Given the description of an element on the screen output the (x, y) to click on. 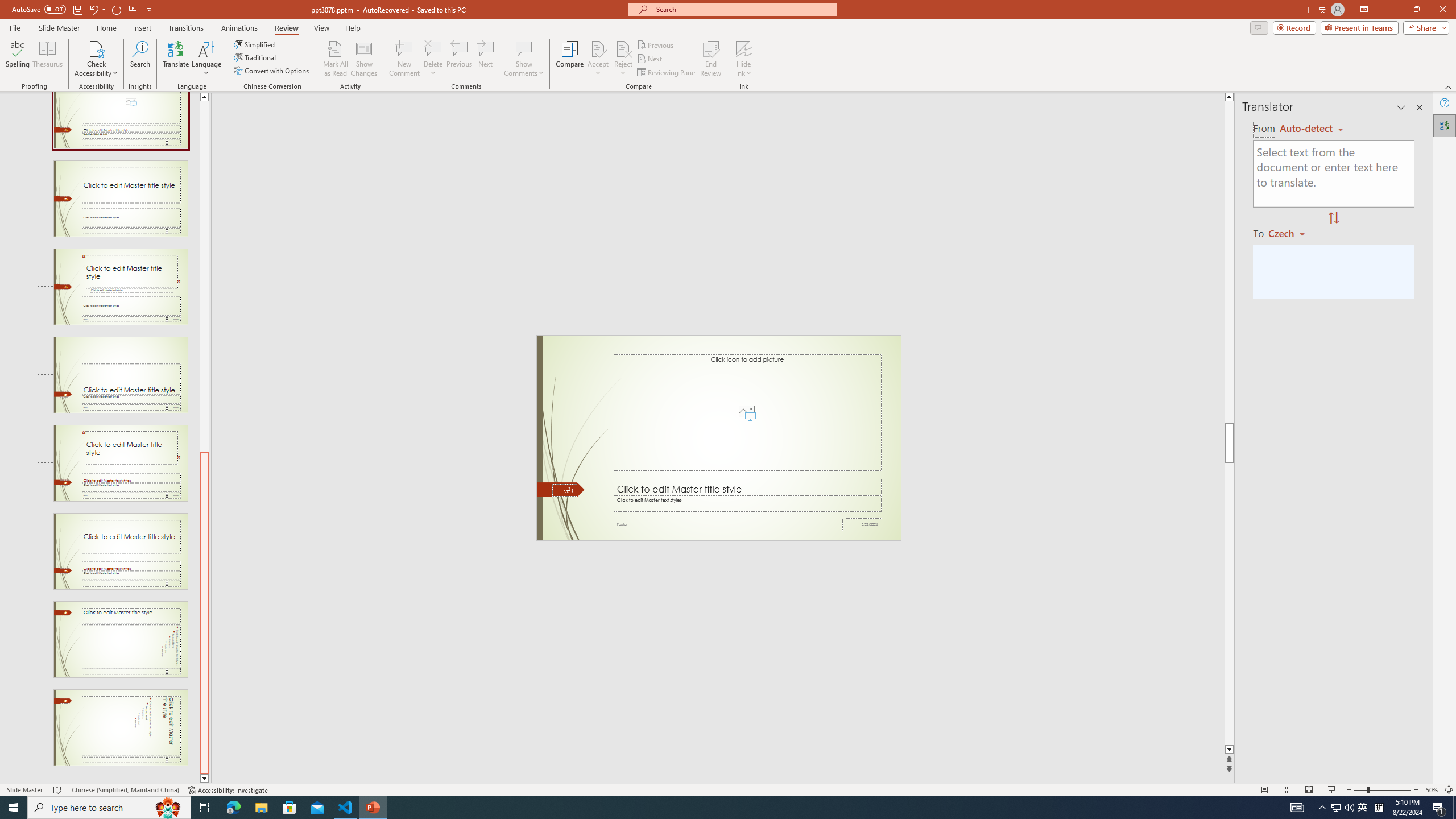
Czech (1291, 232)
Pictures (746, 411)
Slide Title and Caption Layout: used by no slides (120, 198)
Date (863, 524)
Footer (727, 524)
Slide Title and Vertical Text Layout: used by no slides (120, 639)
Slide Quote Name Card Layout: used by no slides (120, 463)
Previous (655, 44)
Slide True or False Layout: used by no slides (120, 550)
Swap "from" and "to" languages. (1333, 218)
New Comment (403, 58)
